Given the description of an element on the screen output the (x, y) to click on. 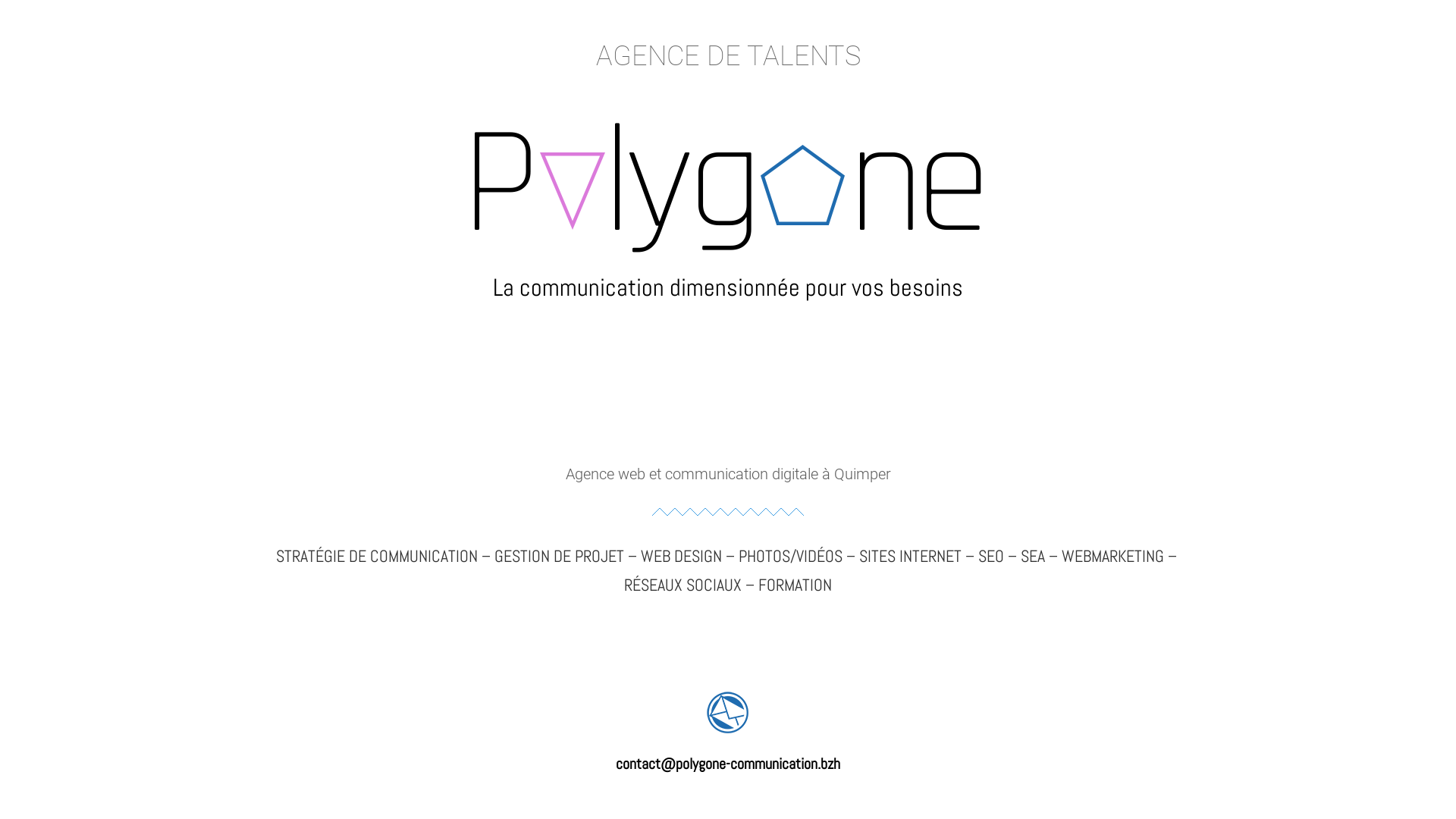
contact@polygone-communication.bzh Element type: text (727, 763)
